Given the description of an element on the screen output the (x, y) to click on. 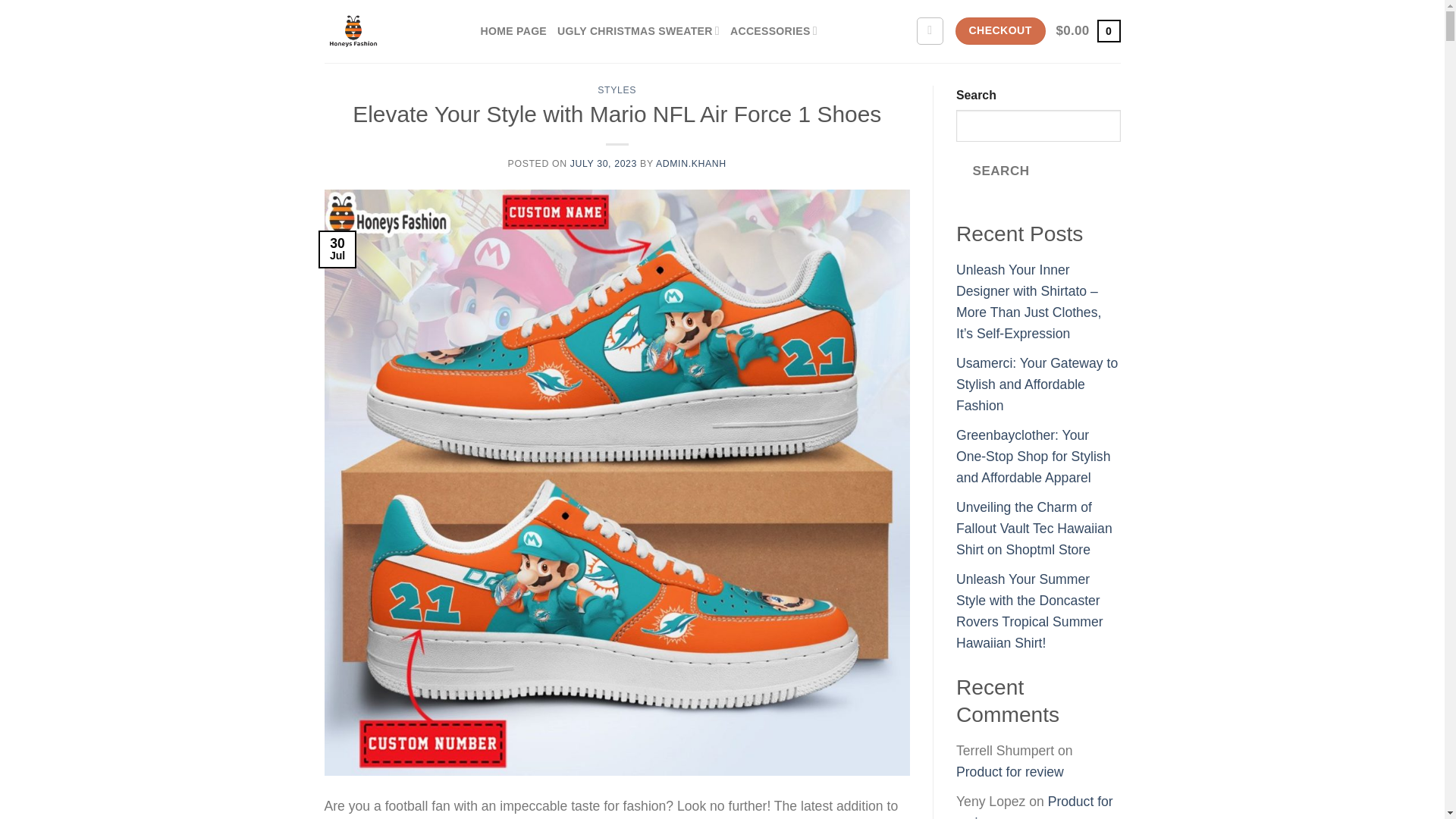
CHECKOUT (1000, 31)
Cart (1089, 30)
ADMIN.KHANH (691, 163)
JULY 30, 2023 (603, 163)
HOME PAGE (513, 31)
UGLY CHRISTMAS SWEATER (638, 31)
Honeysfashion - Find what you need here (391, 31)
ACCESSORIES (773, 31)
STYLES (616, 90)
